Given the description of an element on the screen output the (x, y) to click on. 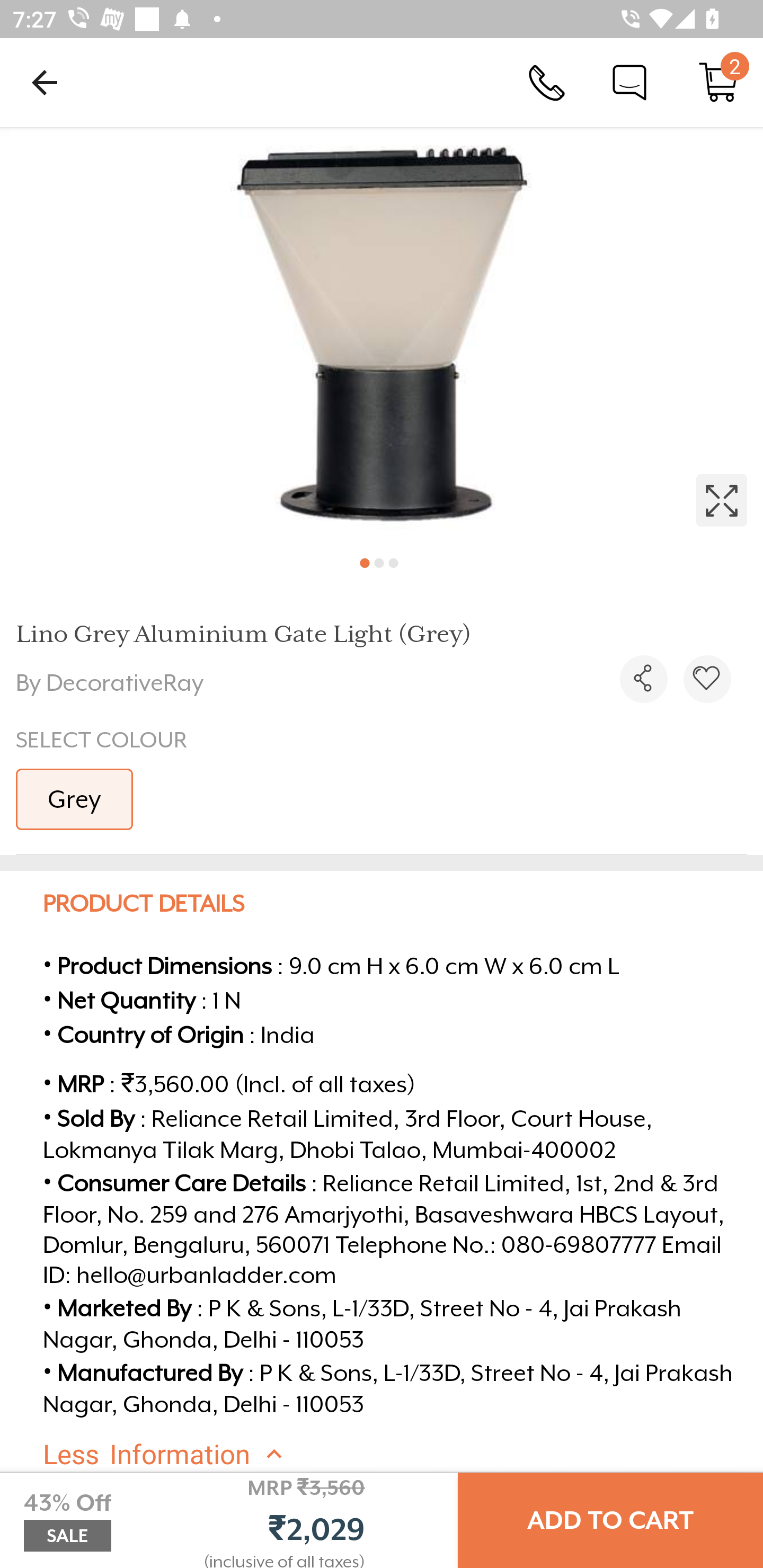
Navigate up (44, 82)
Call Us (546, 81)
Chat (629, 81)
Cart (718, 81)
 (381, 334)
 (643, 678)
 (706, 678)
Grey (74, 798)
Less Information  (396, 1454)
ADD TO CART (610, 1520)
